Given the description of an element on the screen output the (x, y) to click on. 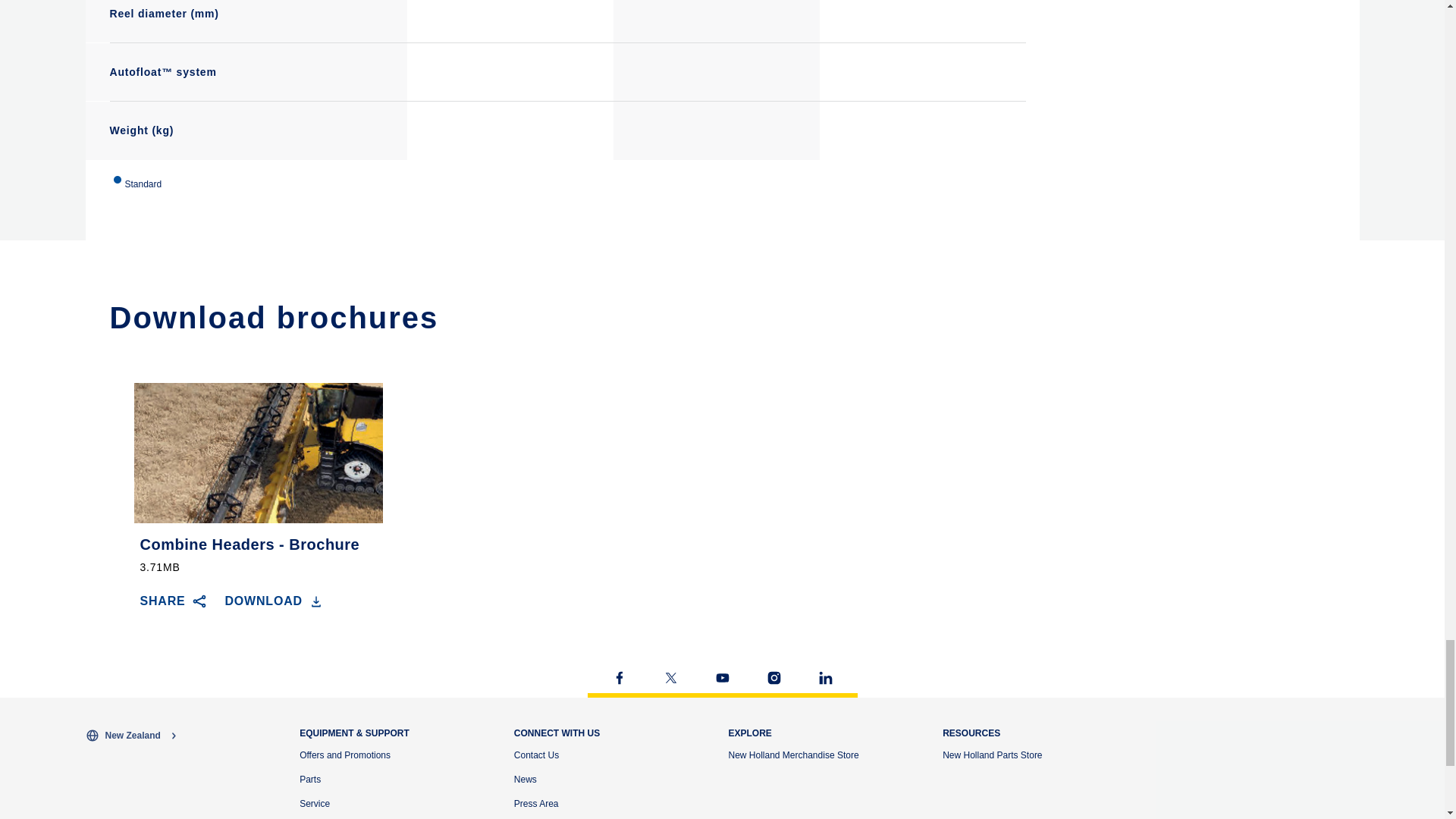
New Holland Parts Store (992, 755)
DOWNLOAD (274, 600)
Service (314, 803)
New Zealand (185, 735)
New Holland Parts Store (992, 755)
News (525, 778)
EXPLORE (749, 733)
CONNECT WITH US (556, 733)
SHARE (172, 600)
RESOURCES (971, 733)
Parts (309, 778)
New Holland Merchandise Store (793, 755)
News (525, 778)
Linkedin (824, 677)
New Holland Merchandise Store (793, 755)
